Given the description of an element on the screen output the (x, y) to click on. 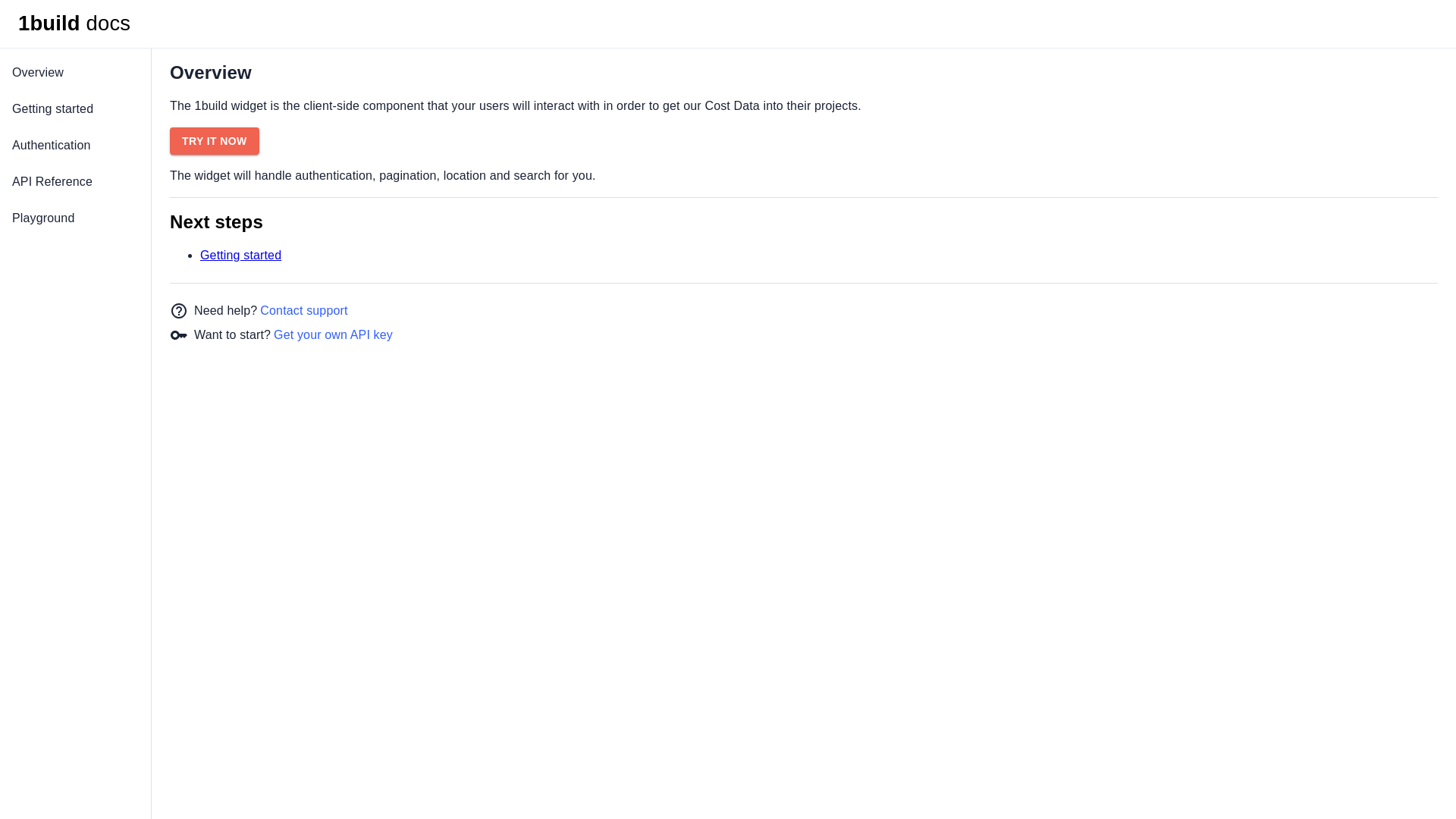
1build
docs Element type: text (74, 23)
Getting started Element type: text (75, 109)
Overview Element type: text (75, 72)
TRY IT NOW Element type: text (214, 140)
API Reference Element type: text (75, 181)
Contact support Element type: text (303, 310)
Playground Element type: text (75, 218)
Authentication Element type: text (75, 145)
Getting started Element type: text (240, 254)
Get your own API key Element type: text (332, 335)
Next steps Element type: text (803, 222)
